Given the description of an element on the screen output the (x, y) to click on. 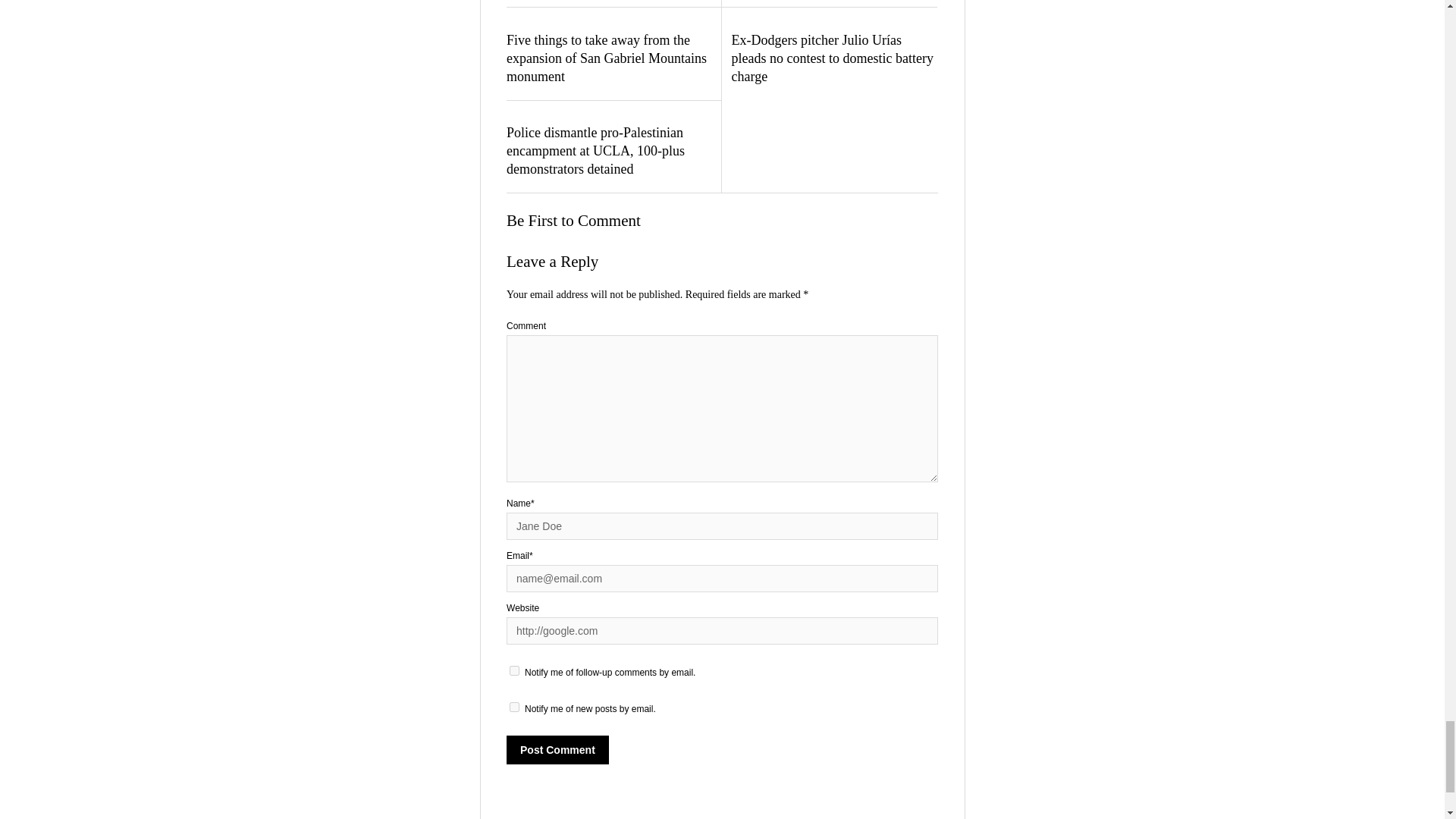
subscribe (514, 670)
subscribe (514, 706)
Post Comment (557, 749)
